Given the description of an element on the screen output the (x, y) to click on. 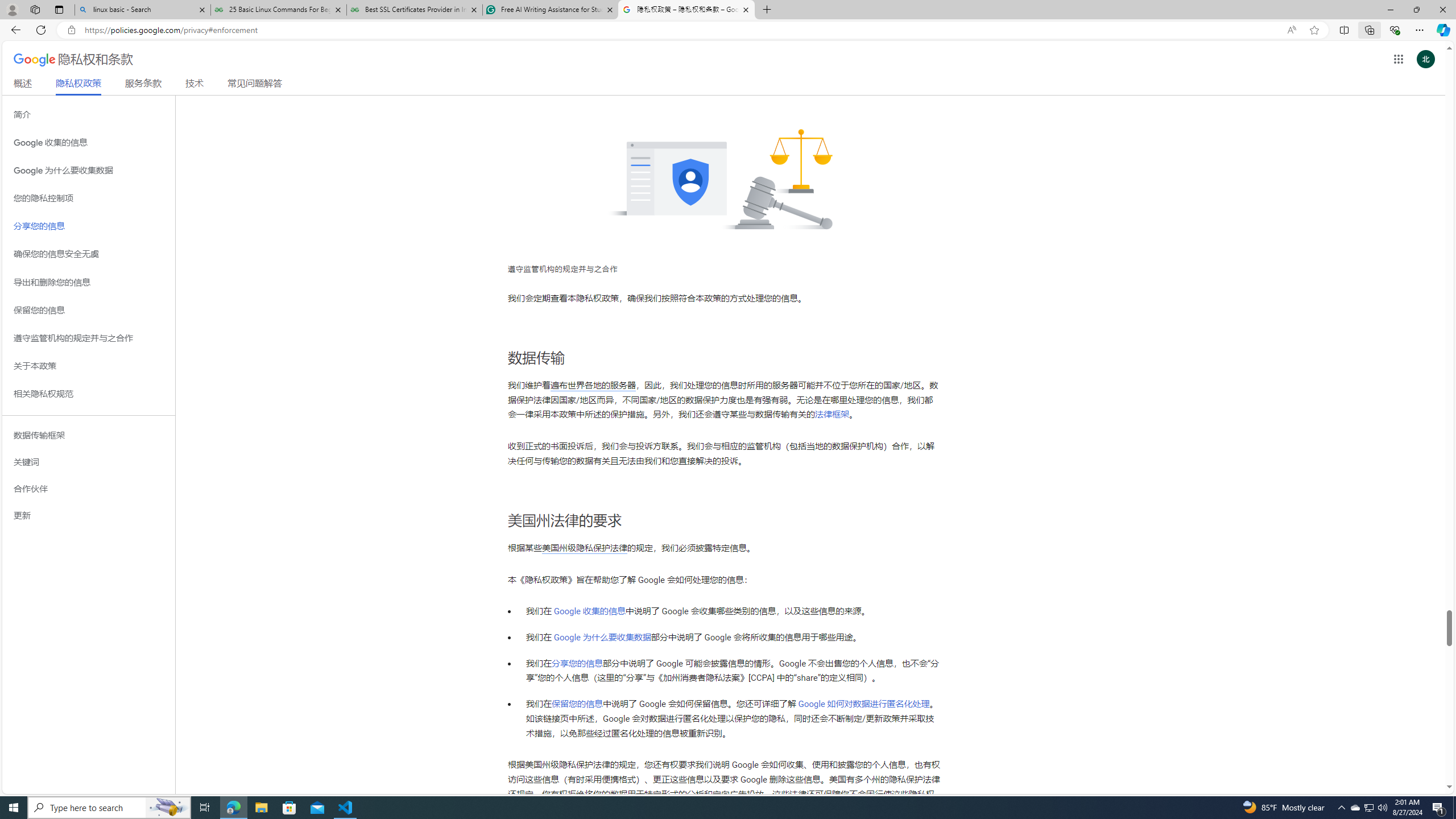
25 Basic Linux Commands For Beginners - GeeksforGeeks (277, 9)
linux basic - Search (142, 9)
